Given the description of an element on the screen output the (x, y) to click on. 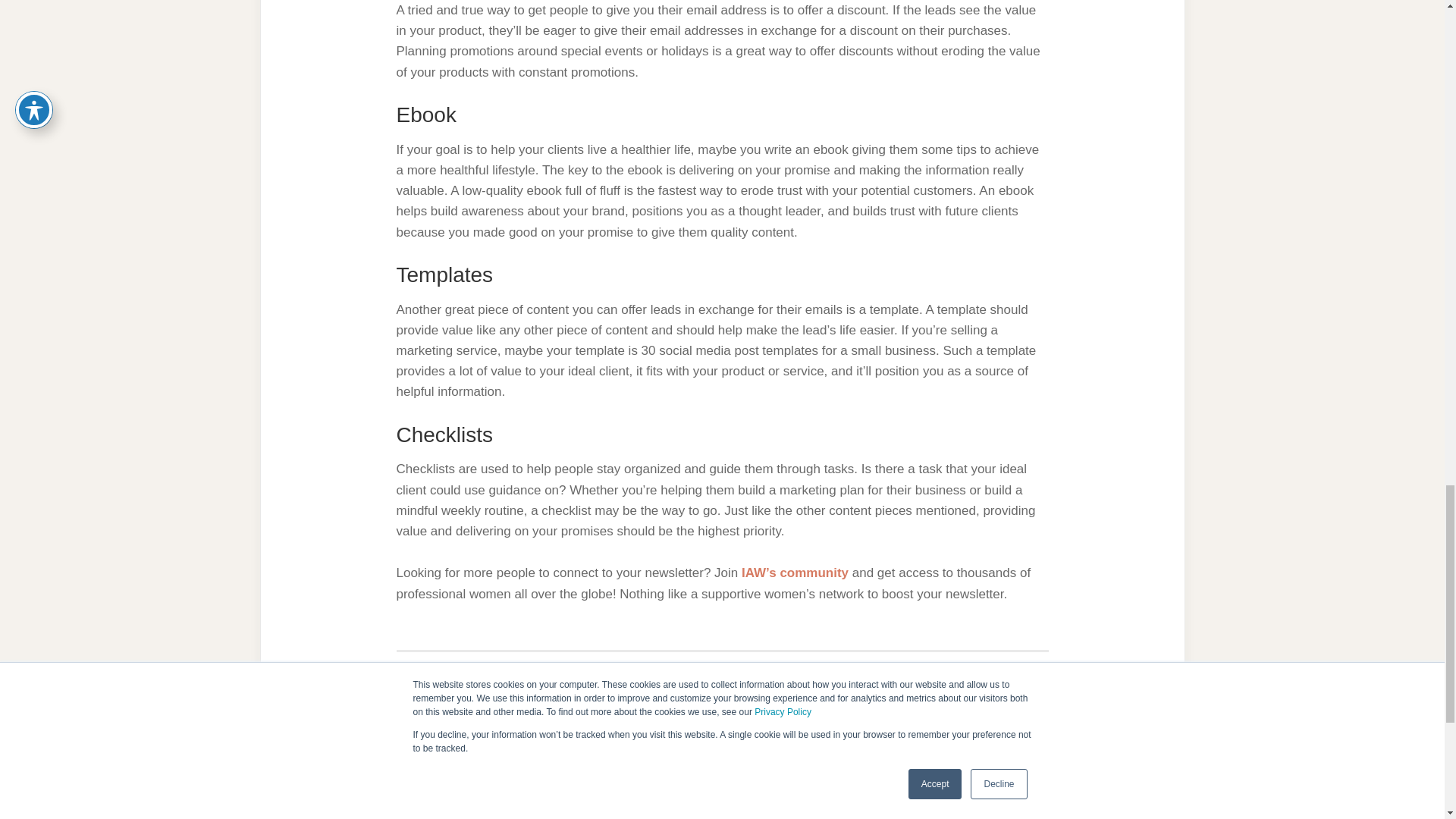
Your Brand Needs a Style Guide (722, 762)
Your Brand Needs a Style Guide (722, 762)
Four Ways a Virtual Receptionist Frees Up Your Schedule (949, 762)
Four Ways a Virtual Receptionist Frees Up Your Schedule (949, 762)
